Given the description of an element on the screen output the (x, y) to click on. 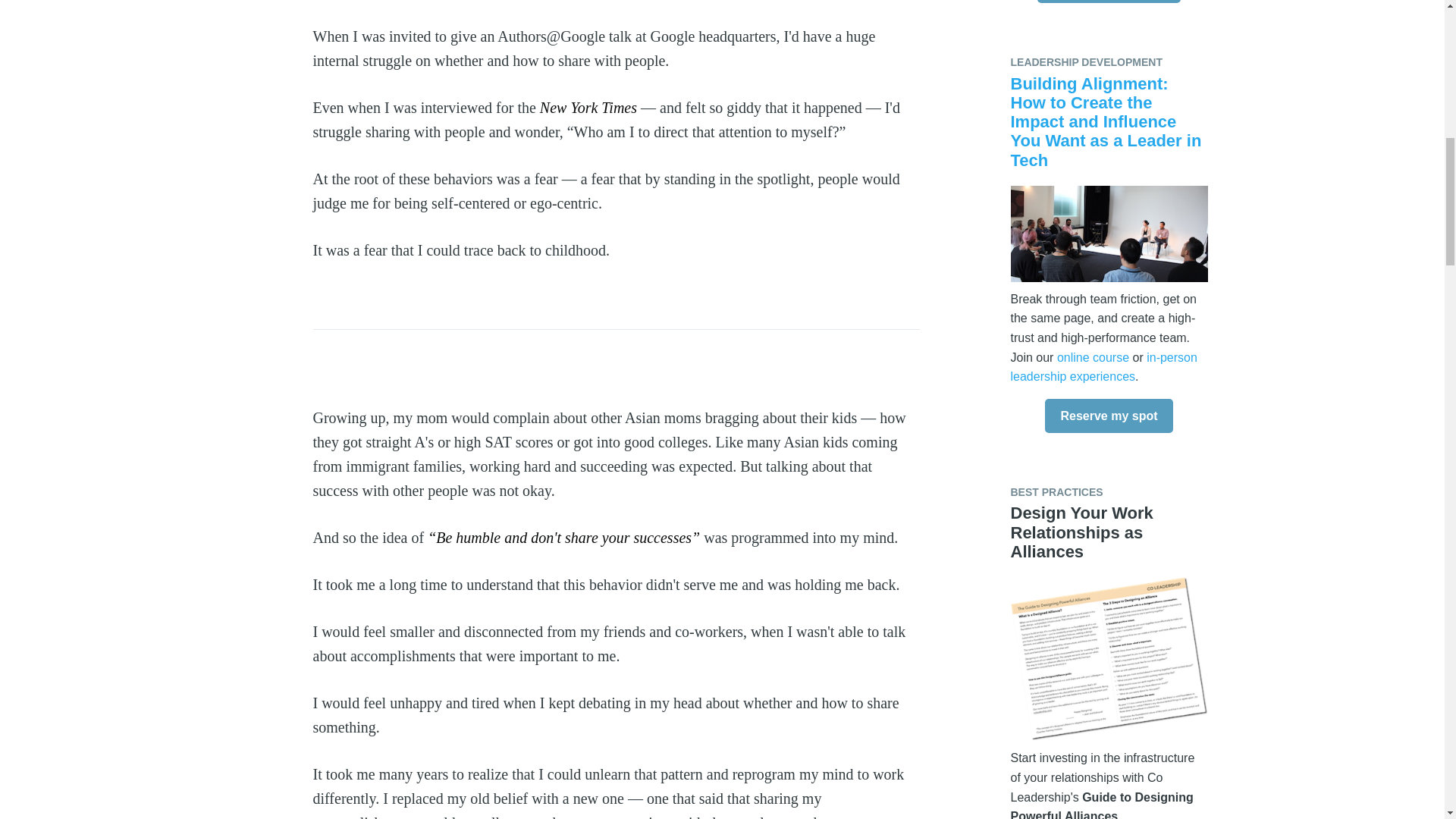
Reserve my spot (1108, 416)
Get sample chapter (1108, 2)
in-person leadership experiences (1103, 367)
online course (1093, 357)
